Given the description of an element on the screen output the (x, y) to click on. 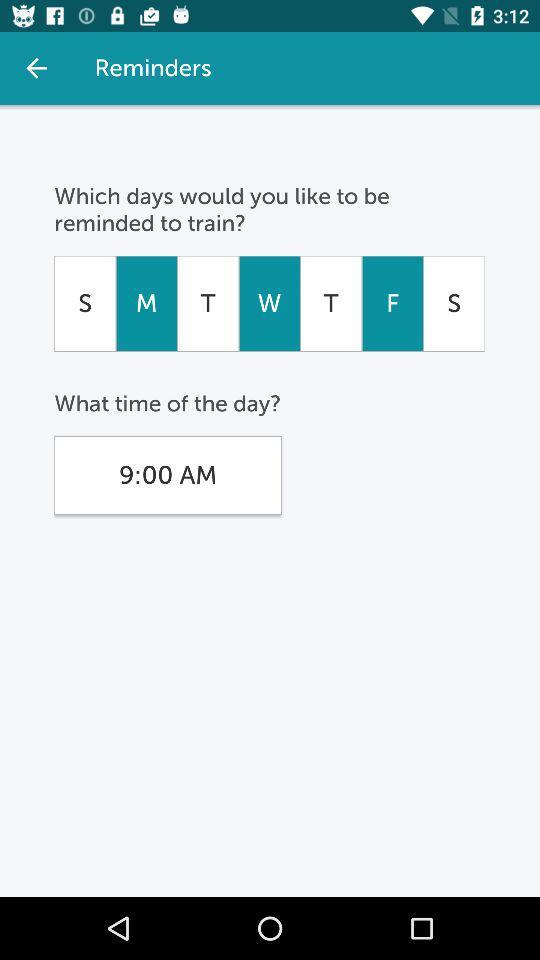
jump until w icon (269, 303)
